Given the description of an element on the screen output the (x, y) to click on. 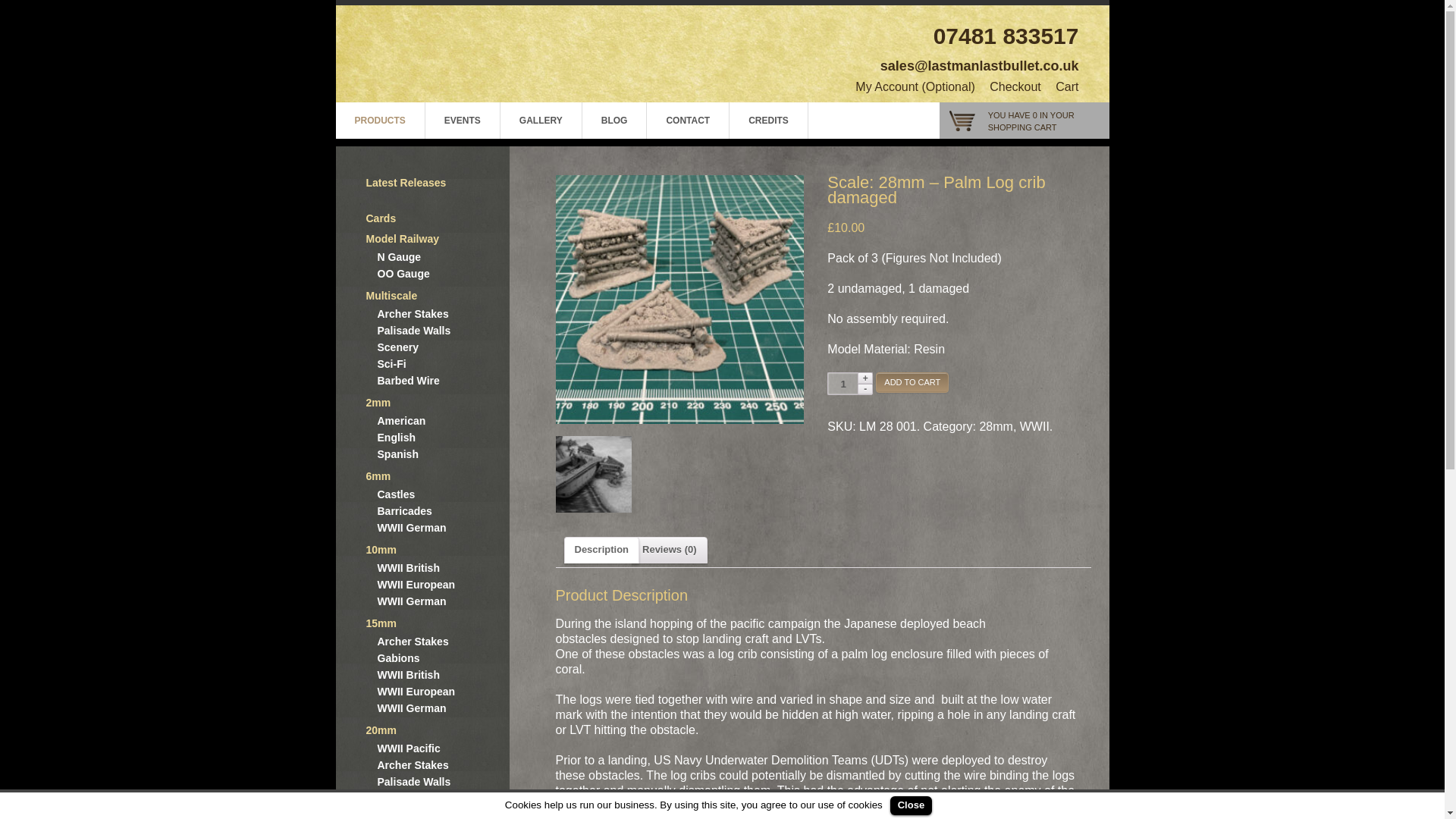
Latest Releases (436, 182)
PRODUCTS (378, 120)
WWII (1034, 426)
CREDITS (768, 120)
Qty (843, 383)
Cart (1066, 86)
ADD TO CART (912, 382)
1 (843, 383)
Model Railway (401, 238)
CONTACT (687, 120)
28mm (994, 426)
Close (910, 805)
Cards (380, 218)
Checkout (1015, 86)
GALLERY (540, 120)
